Given the description of an element on the screen output the (x, y) to click on. 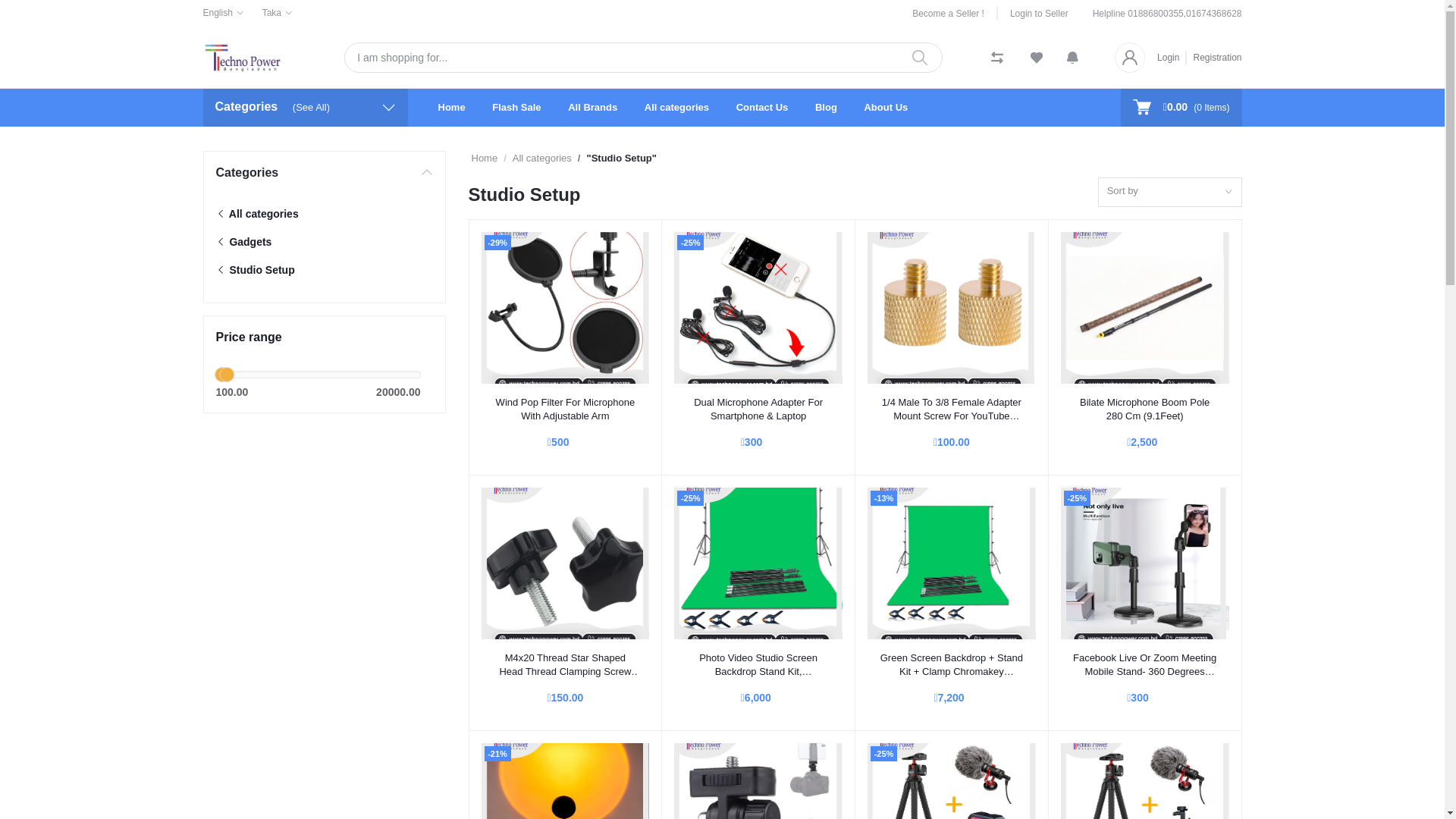
(See All) Element type: text (310, 106)
Bilate Microphone Boom Pole 280 Cm (9.1Feet) Element type: hover (1144, 307)
Registration Element type: text (1213, 56)
Blog Element type: text (826, 107)
Helpline 01886800355,01674368628 Element type: text (1167, 13)
Sort by Element type: text (1170, 192)
Wind Pop Filter For Microphone With Adjustable Arm Element type: hover (564, 307)
Bilate Microphone Boom Pole 280 Cm (9.1Feet) Element type: text (1145, 409)
English Element type: text (223, 12)
About Us Element type: text (885, 107)
Categories Element type: text (323, 172)
Become a Seller ! Element type: text (954, 13)
Dual Microphone Adapter For Smartphone & Laptop Element type: hover (758, 307)
Login Element type: text (1171, 56)
Studio Setup Element type: text (254, 269)
All categories Element type: text (676, 107)
All Brands Element type: text (592, 107)
Taka Element type: text (277, 12)
Gadgets Element type: text (243, 241)
Home Element type: text (484, 157)
Home Element type: text (451, 107)
Contact Us Element type: text (762, 107)
Login to Seller Element type: text (1032, 13)
All categories Element type: text (541, 157)
Flash Sale Element type: text (516, 107)
Dual Microphone Adapter For Smartphone & Laptop Element type: text (758, 409)
All categories Element type: text (256, 213)
Wind Pop Filter For Microphone With Adjustable Arm Element type: text (564, 409)
